Given the description of an element on the screen output the (x, y) to click on. 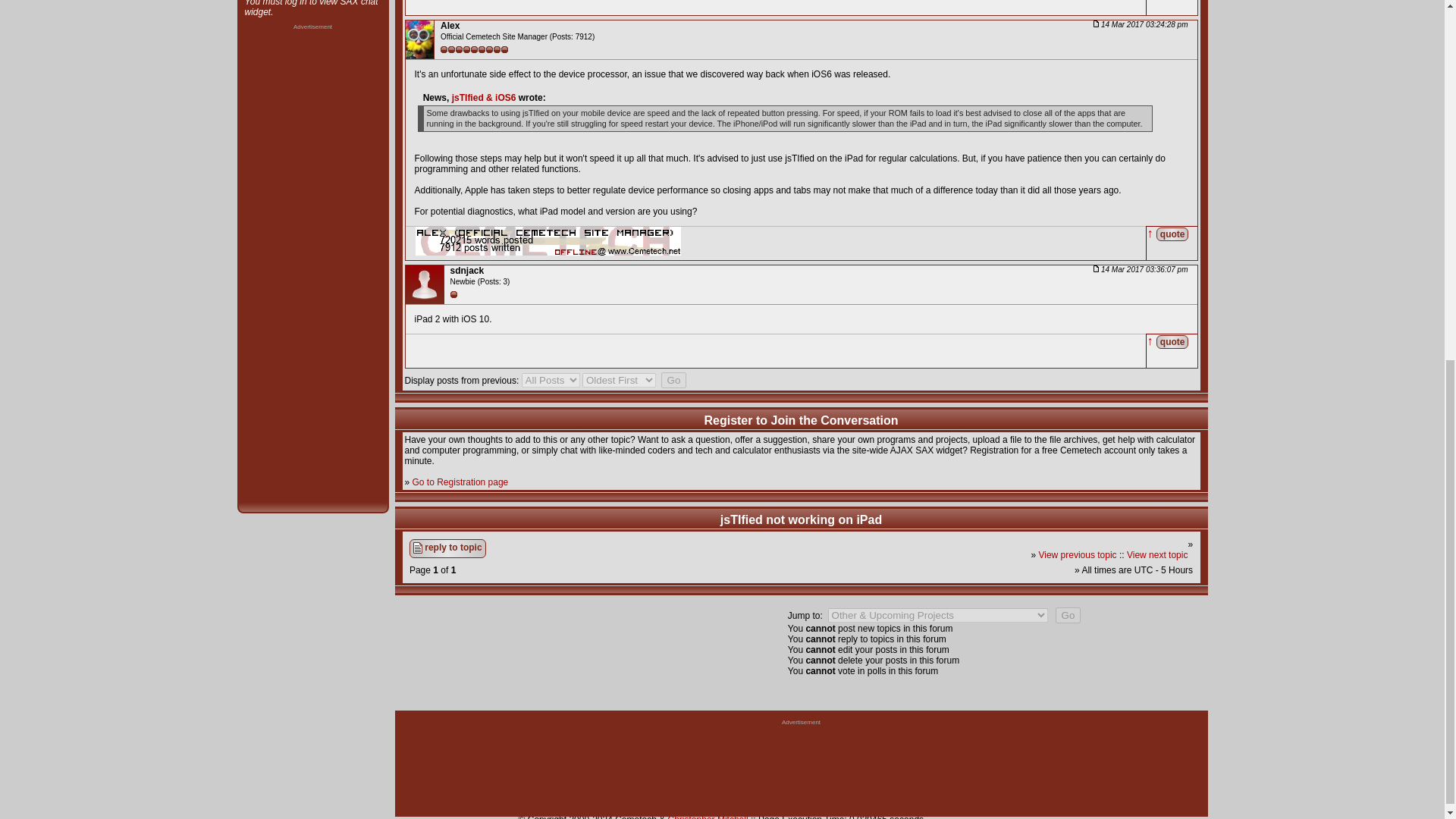
Alex (450, 25)
Go (674, 380)
Go (1068, 615)
14 Mar 2017 03:24:28 pm (1140, 24)
